Given the description of an element on the screen output the (x, y) to click on. 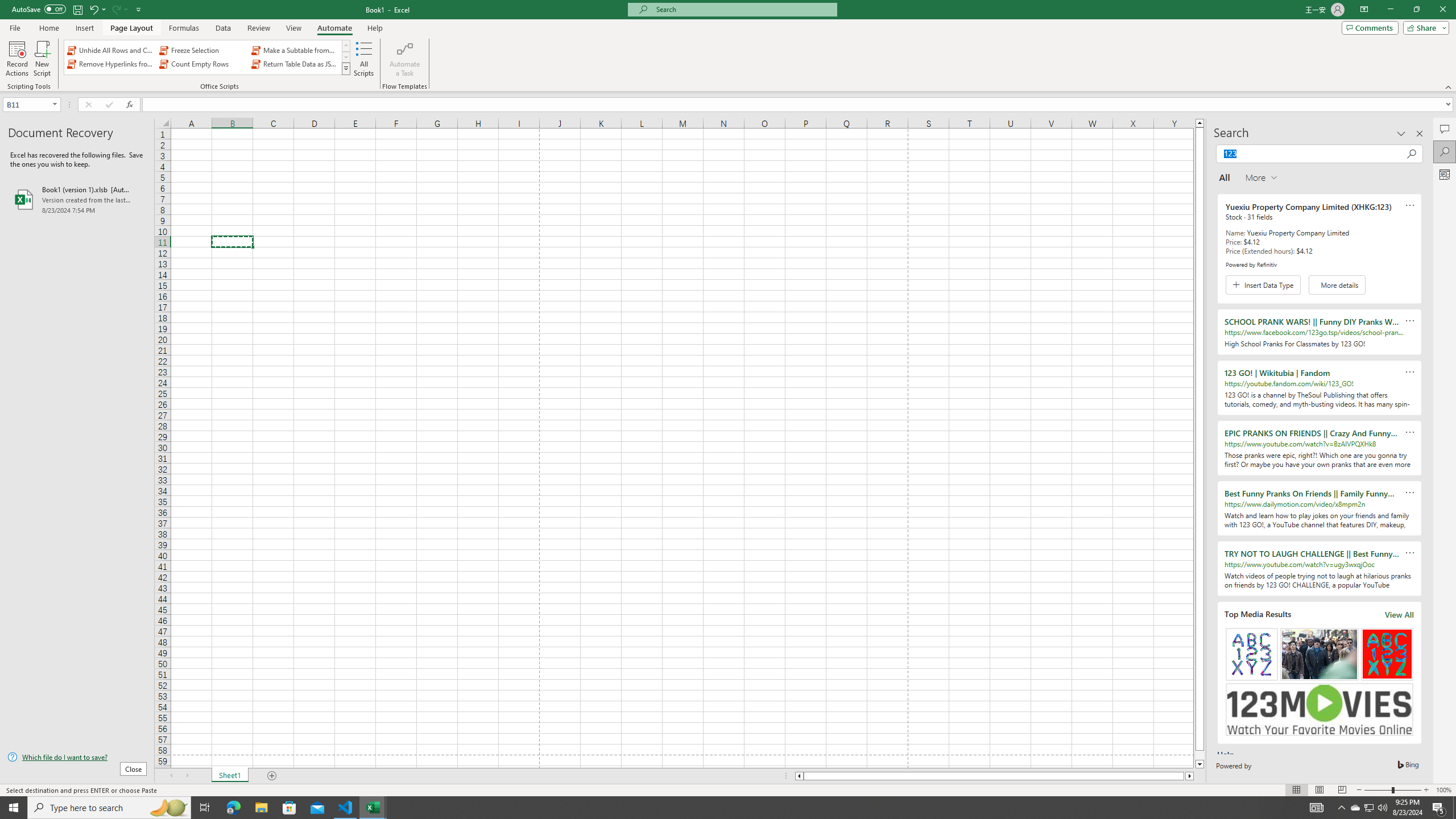
Return Table Data as JSON (294, 64)
